Given the description of an element on the screen output the (x, y) to click on. 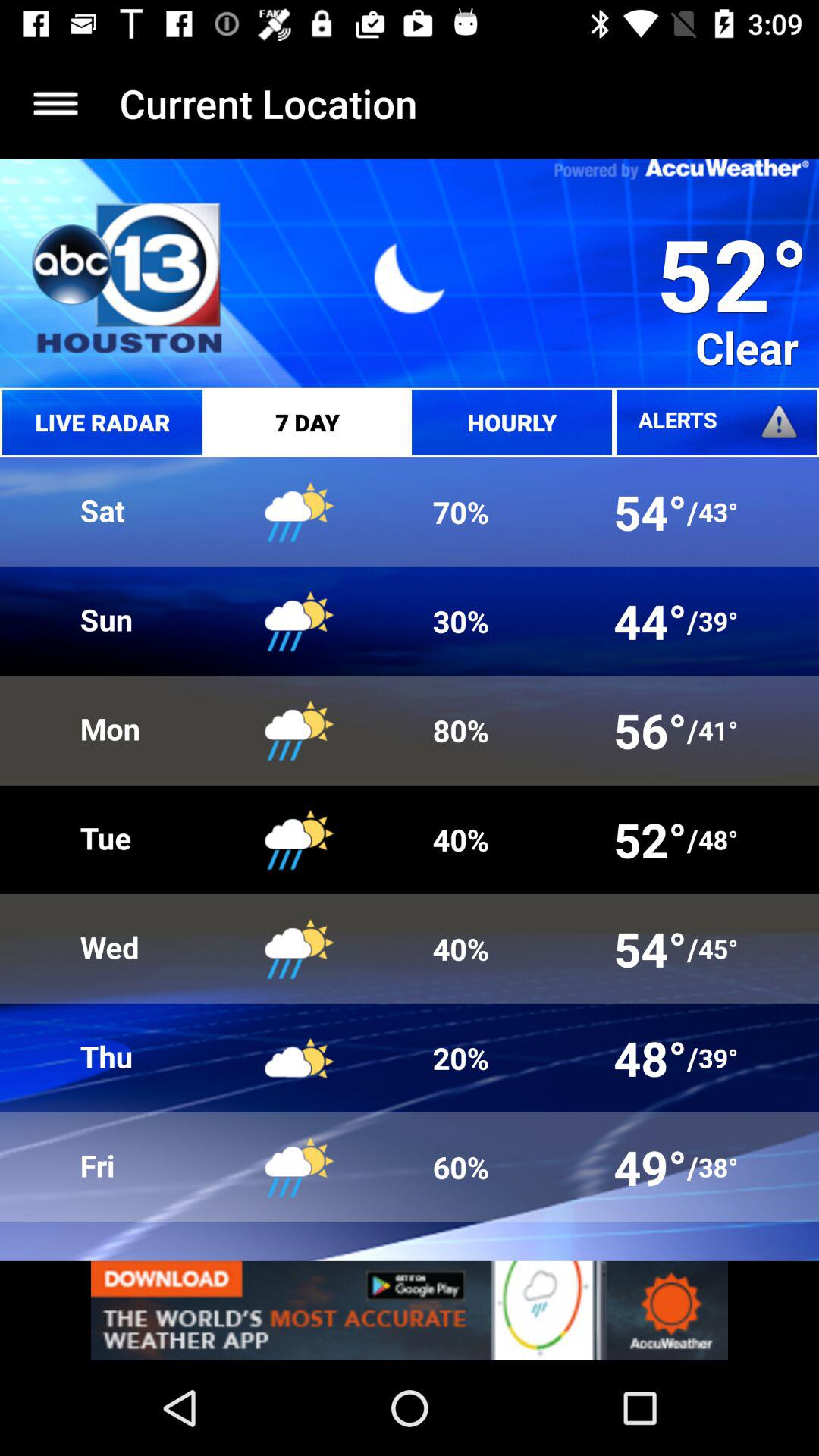
download accuweather app from play store (409, 1310)
